Given the description of an element on the screen output the (x, y) to click on. 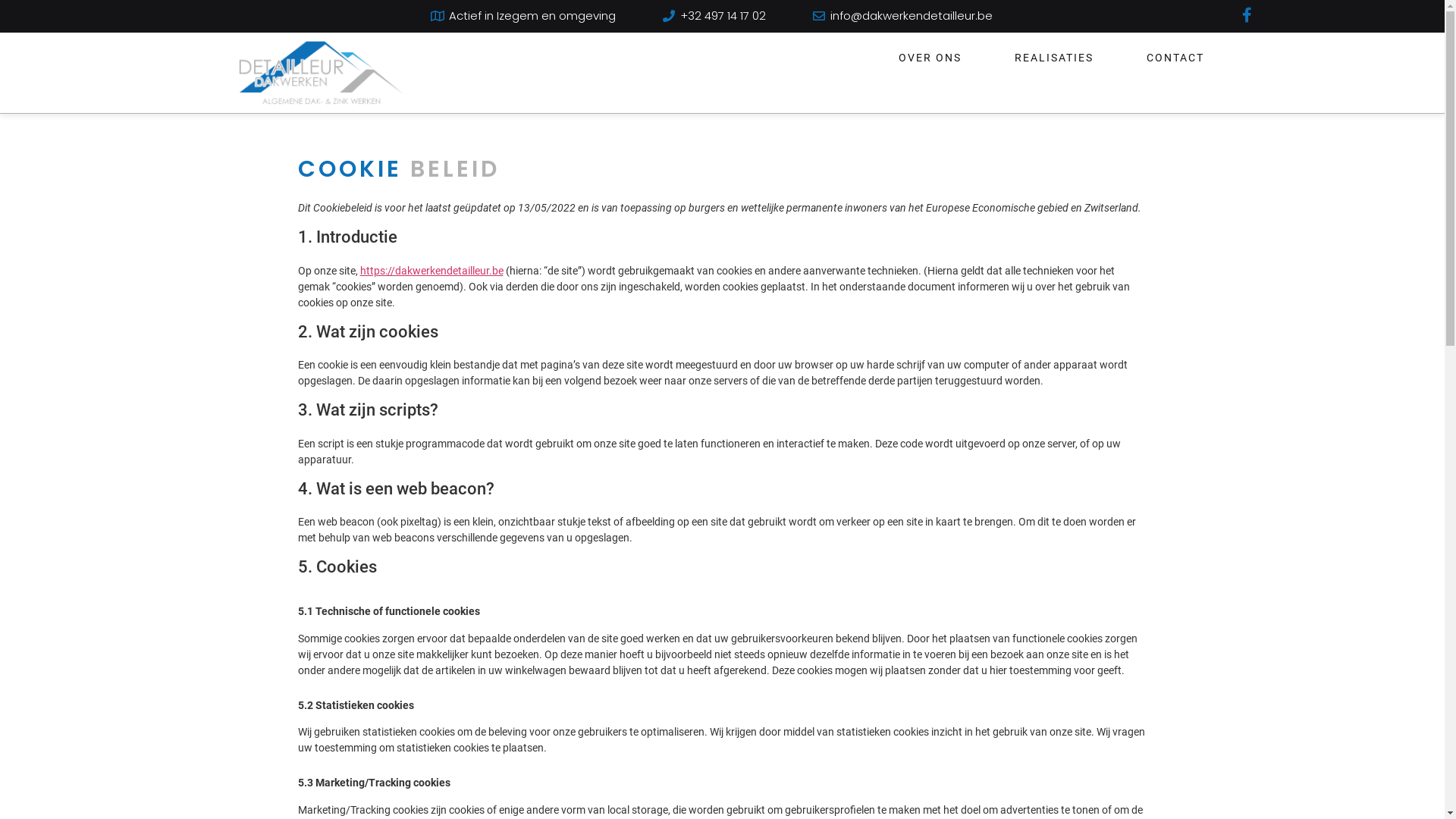
+32 497 14 17 02 Element type: text (713, 16)
Actief in Izegem en omgeving Element type: text (522, 16)
info@dakwerkendetailleur.be Element type: text (901, 16)
https://dakwerkendetailleur.be Element type: text (430, 270)
CONTACT Element type: text (1174, 56)
REALISATIES Element type: text (1053, 56)
OVER ONS Element type: text (929, 56)
